Given the description of an element on the screen output the (x, y) to click on. 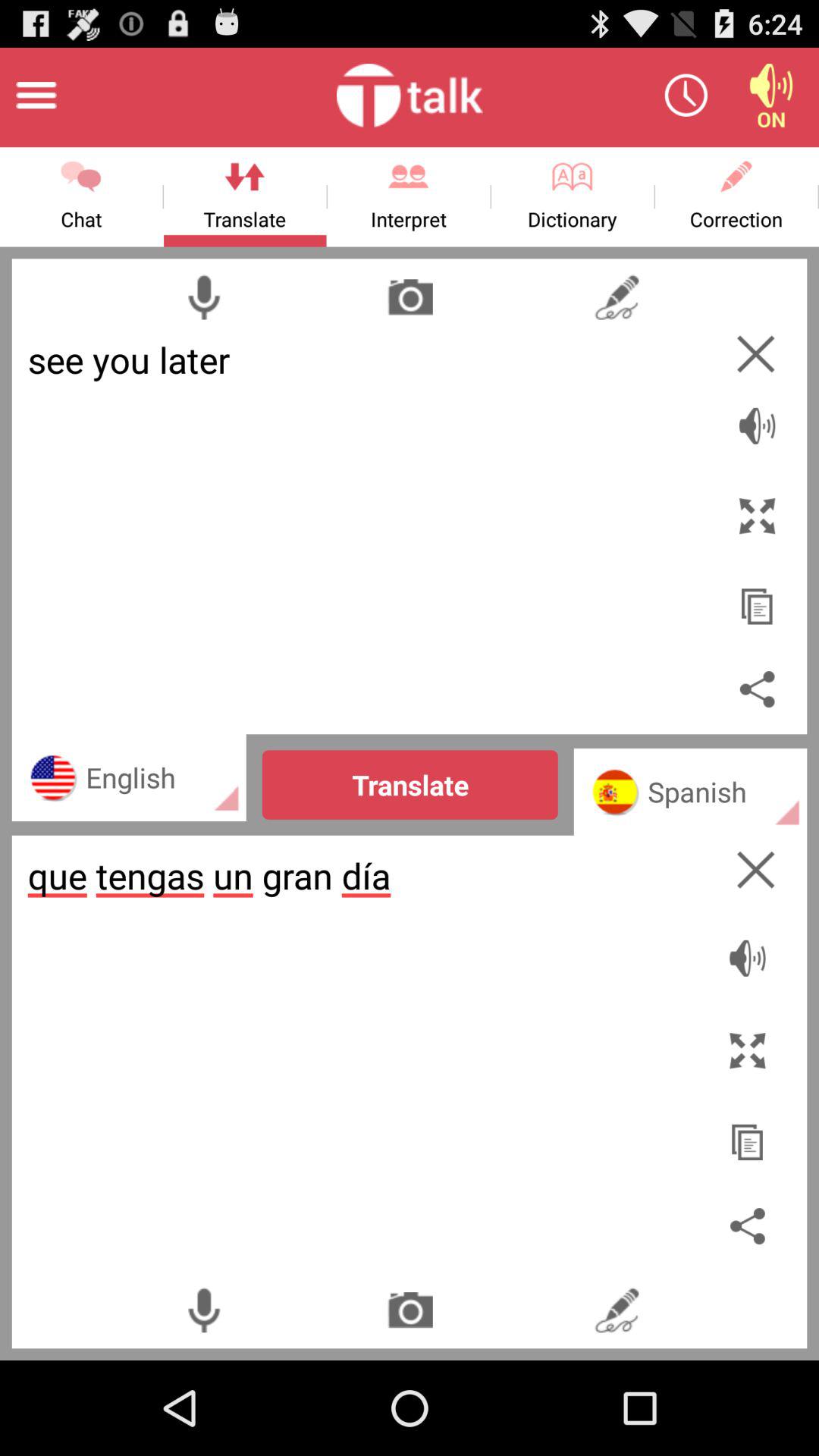
copy translation (749, 1134)
